Given the description of an element on the screen output the (x, y) to click on. 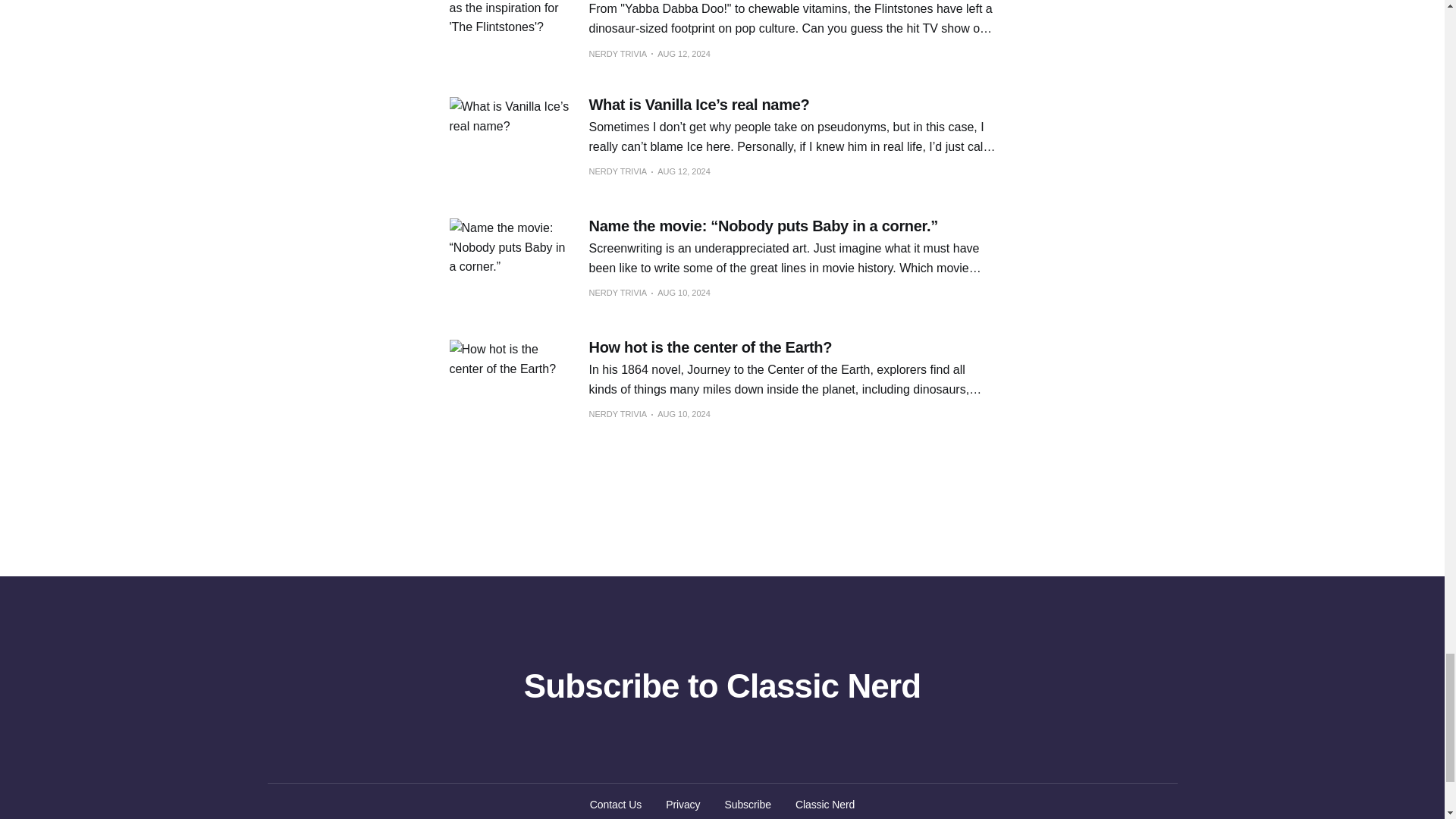
Classic Nerd (824, 804)
Privacy (682, 804)
Subscribe (747, 804)
Contact Us (615, 804)
